Given the description of an element on the screen output the (x, y) to click on. 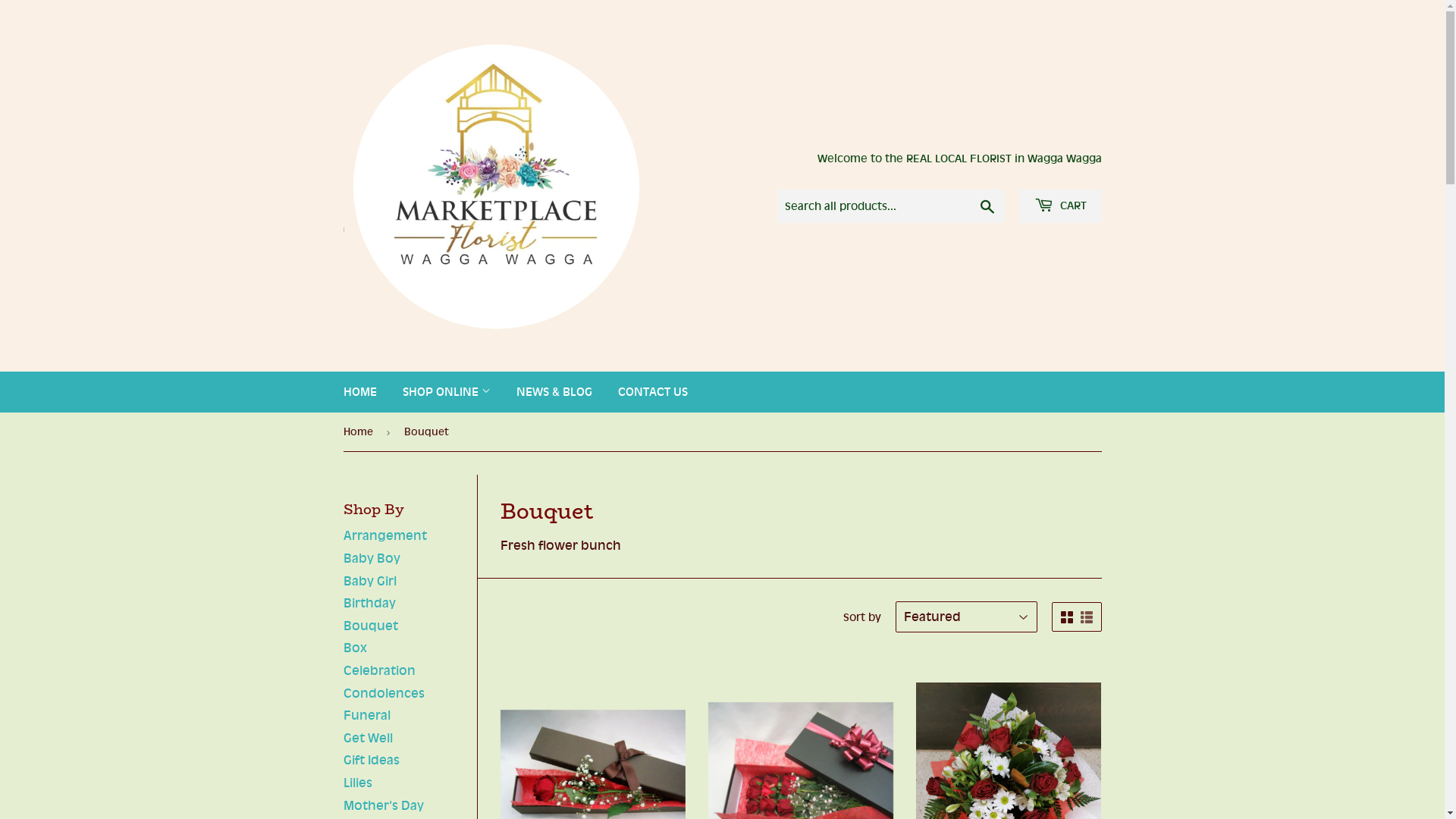
Gift Ideas Element type: text (370, 759)
List view Element type: hover (1085, 617)
SHOP ONLINE Element type: text (446, 391)
Grid view Element type: hover (1066, 617)
Home Element type: text (359, 431)
Baby Boy Element type: text (370, 557)
Celebration Element type: text (378, 669)
CONTACT US Element type: text (652, 391)
HOME Element type: text (360, 391)
NEWS & BLOG Element type: text (554, 391)
Lilies Element type: text (356, 782)
Condolences Element type: text (382, 692)
Funeral Element type: text (365, 714)
Birthday Element type: text (368, 602)
Baby Girl Element type: text (368, 580)
Get Well Element type: text (367, 737)
Box Element type: text (354, 647)
Bouquet Element type: text (369, 625)
CART Element type: text (1060, 205)
Search Element type: text (987, 206)
Arrangement Element type: text (384, 534)
Mother's Day Element type: text (382, 804)
